Given the description of an element on the screen output the (x, y) to click on. 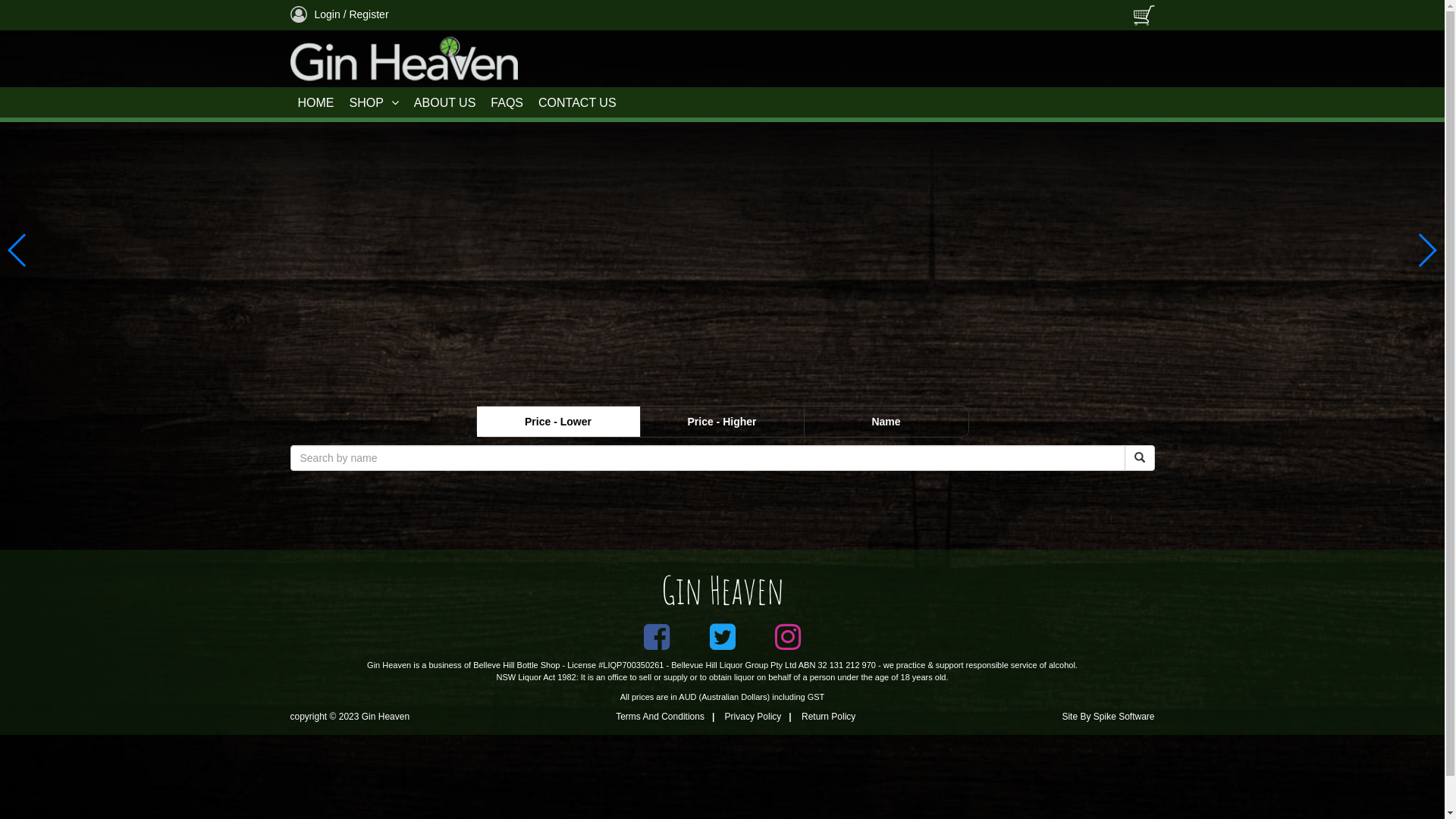
Terms And Conditions Element type: text (659, 716)
FAQS Element type: text (506, 103)
Price - Higher Element type: text (721, 421)
Site By Spike Software Element type: text (1107, 716)
Return Policy Element type: text (828, 716)
Privacy Policy Element type: text (752, 716)
Name Element type: text (885, 421)
SHOP Element type: text (373, 103)
HOME Element type: text (315, 103)
Price - Lower Element type: text (557, 421)
CONTACT US Element type: text (577, 103)
ABOUT US Element type: text (444, 103)
Login / Register Element type: text (338, 14)
